Given the description of an element on the screen output the (x, y) to click on. 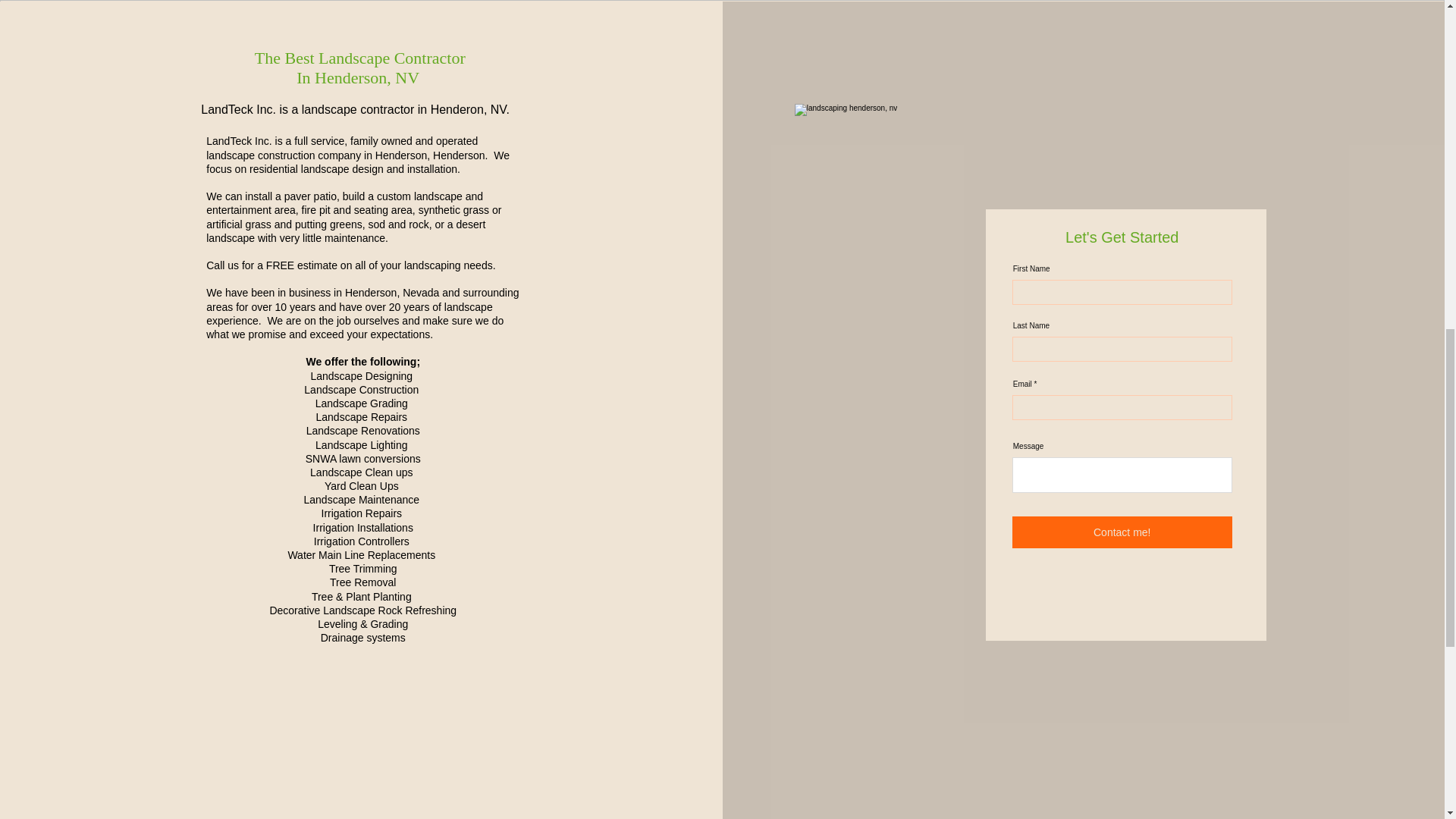
Contact me! (1121, 531)
